Given the description of an element on the screen output the (x, y) to click on. 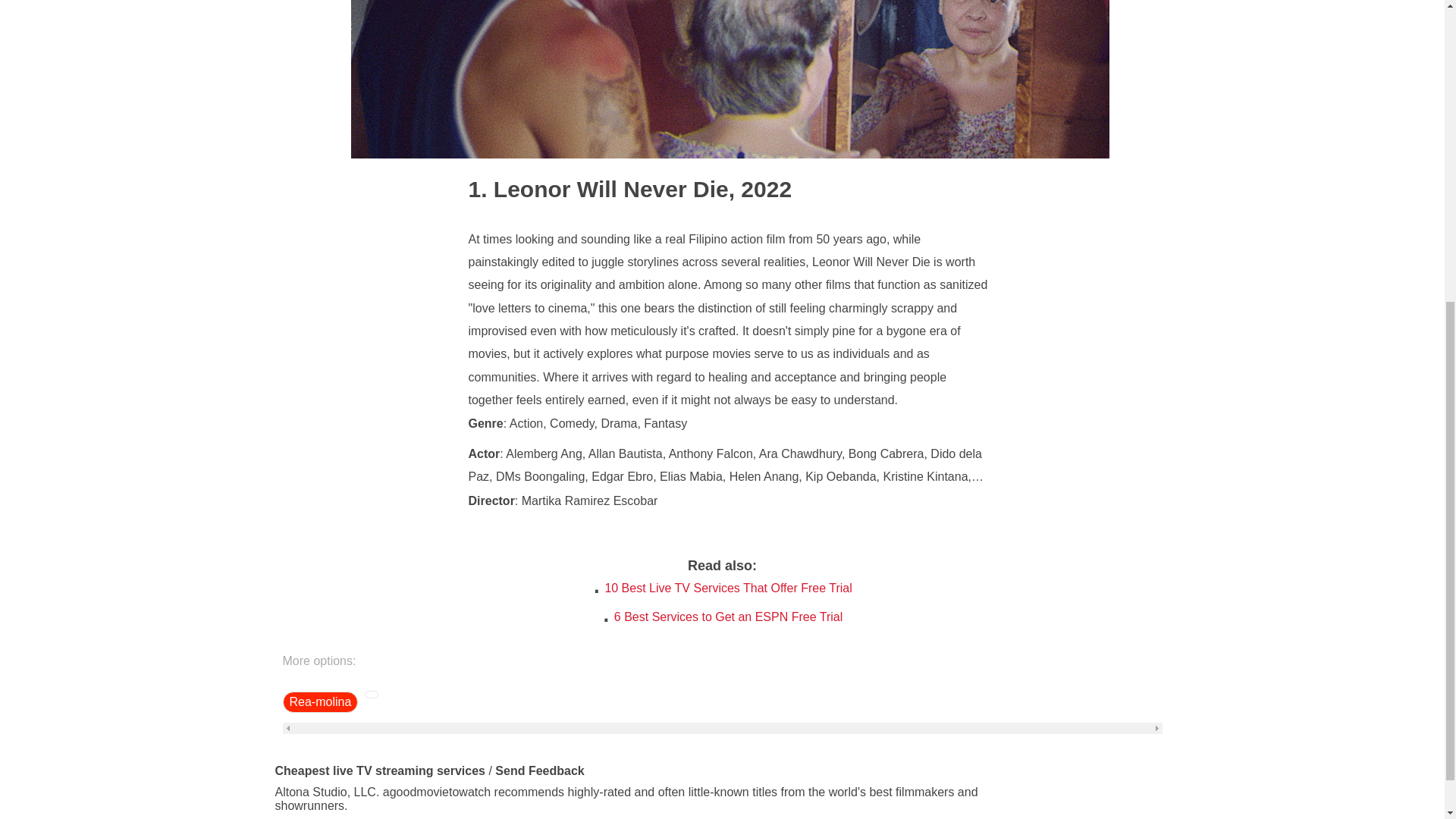
Leonor Will Never Die (598, 188)
